Given the description of an element on the screen output the (x, y) to click on. 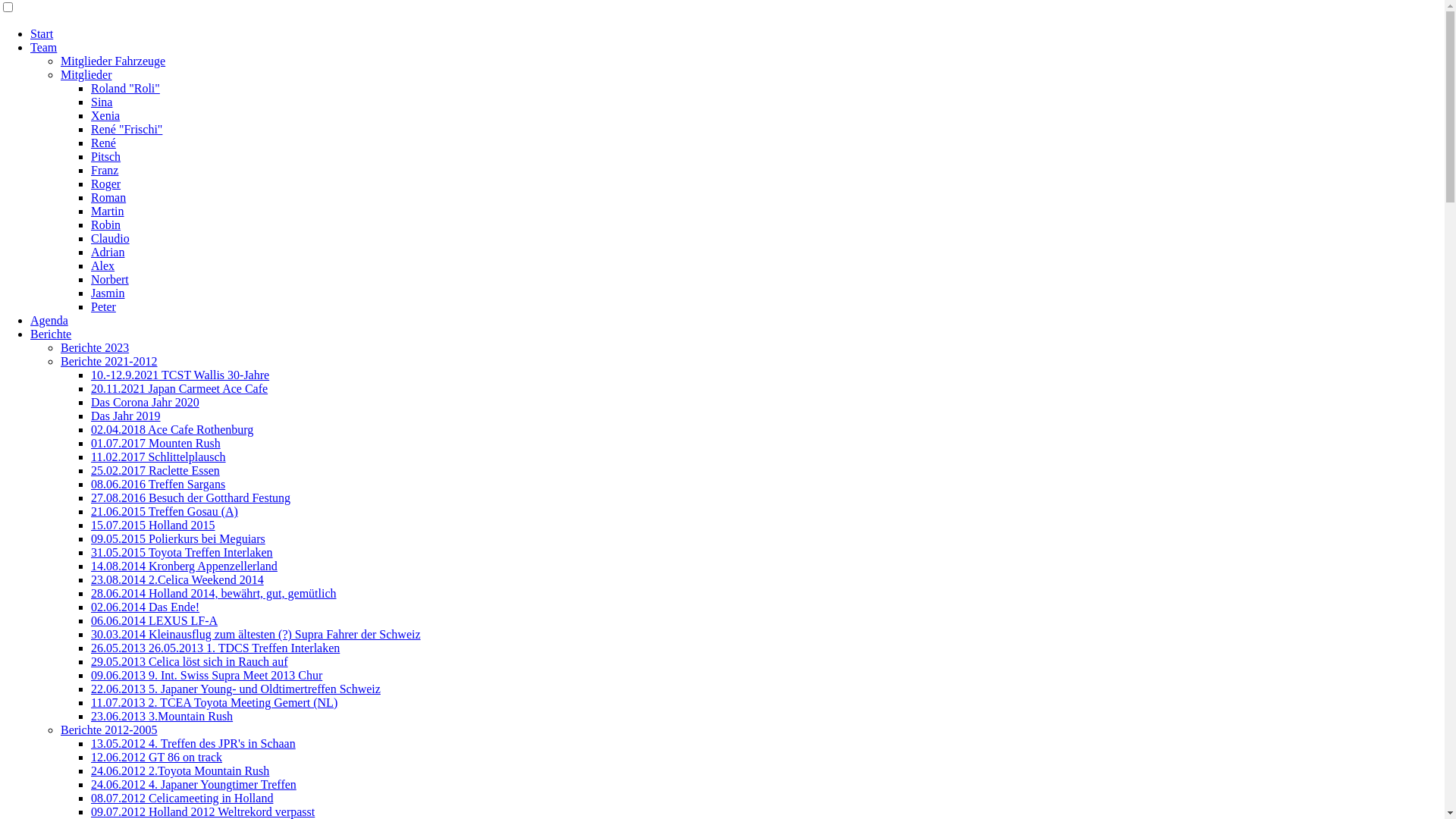
Jasmin Element type: text (107, 292)
Berichte Element type: text (50, 333)
Roger Element type: text (105, 183)
Claudio Element type: text (110, 238)
Mitglieder Element type: text (86, 74)
Roman Element type: text (108, 197)
21.06.2015 Treffen Gosau (A) Element type: text (164, 511)
Sina Element type: text (101, 101)
15.07.2015 Holland 2015 Element type: text (153, 524)
Pitsch Element type: text (105, 156)
26.05.2013 26.05.2013 1. TDCS Treffen Interlaken Element type: text (215, 647)
Mitglieder Fahrzeuge Element type: text (112, 60)
09.07.2012 Holland 2012 Weltrekord verpasst Element type: text (202, 811)
06.06.2014 LEXUS LF-A Element type: text (154, 620)
11.02.2017 Schlittelplausch Element type: text (158, 456)
Franz Element type: text (104, 169)
09.06.2013 9. Int. Swiss Supra Meet 2013 Chur Element type: text (206, 674)
Berichte 2023 Element type: text (94, 347)
Start Element type: text (41, 33)
Robin Element type: text (105, 224)
12.06.2012 GT 86 on track Element type: text (156, 756)
08.06.2016 Treffen Sargans Element type: text (158, 483)
10.-12.9.2021 TCST Wallis 30-Jahre Element type: text (180, 374)
Berichte 2021-2012 Element type: text (108, 360)
Alex Element type: text (102, 265)
23.06.2013 3.Mountain Rush Element type: text (161, 715)
Das Jahr 2019 Element type: text (125, 415)
02.06.2014 Das Ende! Element type: text (145, 606)
13.05.2012 4. Treffen des JPR's in Schaan Element type: text (193, 743)
Das Corona Jahr 2020 Element type: text (145, 401)
Team Element type: text (43, 46)
02.04.2018 Ace Cafe Rothenburg Element type: text (172, 429)
09.05.2015 Polierkurs bei Meguiars Element type: text (178, 538)
Adrian Element type: text (107, 251)
31.05.2015 Toyota Treffen Interlaken Element type: text (182, 552)
14.08.2014 Kronberg Appenzellerland Element type: text (184, 565)
23.08.2014 2.Celica Weekend 2014 Element type: text (177, 579)
Norbert Element type: text (109, 279)
27.08.2016 Besuch der Gotthard Festung Element type: text (190, 497)
08.07.2012 Celicameeting in Holland Element type: text (182, 797)
11.07.2013 2. TCEA Toyota Meeting Gemert (NL) Element type: text (214, 702)
Agenda Element type: text (49, 319)
20.11.2021 Japan Carmeet Ace Cafe Element type: text (179, 388)
24.06.2012 2.Toyota Mountain Rush Element type: text (180, 770)
Xenia Element type: text (105, 115)
22.06.2013 5. Japaner Young- und Oldtimertreffen Schweiz Element type: text (235, 688)
Roland "Roli" Element type: text (125, 87)
01.07.2017 Mounten Rush Element type: text (155, 442)
25.02.2017 Raclette Essen Element type: text (155, 470)
24.06.2012 4. Japaner Youngtimer Treffen Element type: text (193, 784)
Martin Element type: text (107, 210)
Berichte 2012-2005 Element type: text (108, 729)
Peter Element type: text (103, 306)
